Given the description of an element on the screen output the (x, y) to click on. 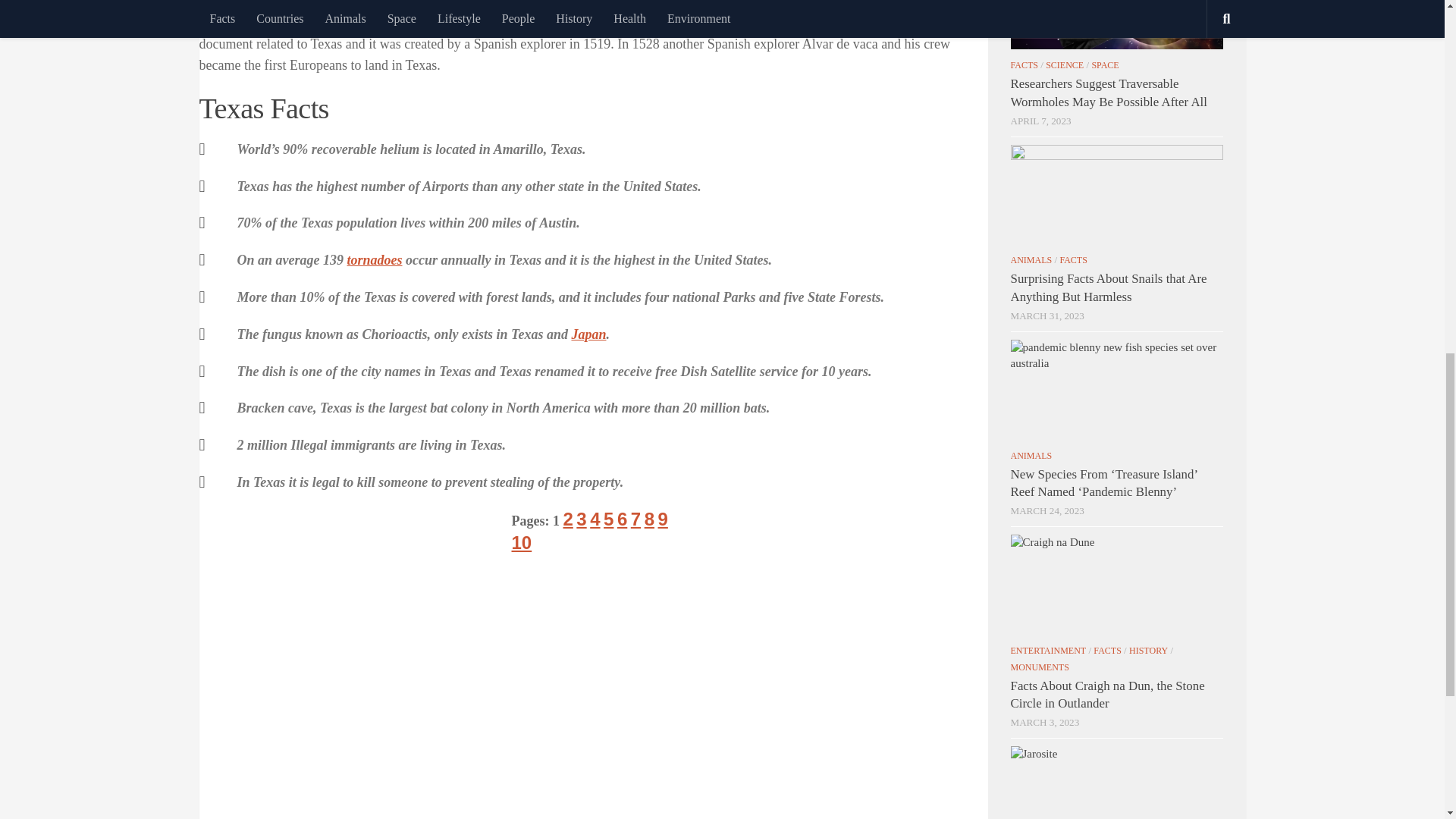
10 (521, 542)
Japan (587, 334)
tornadoes (375, 259)
